Given the description of an element on the screen output the (x, y) to click on. 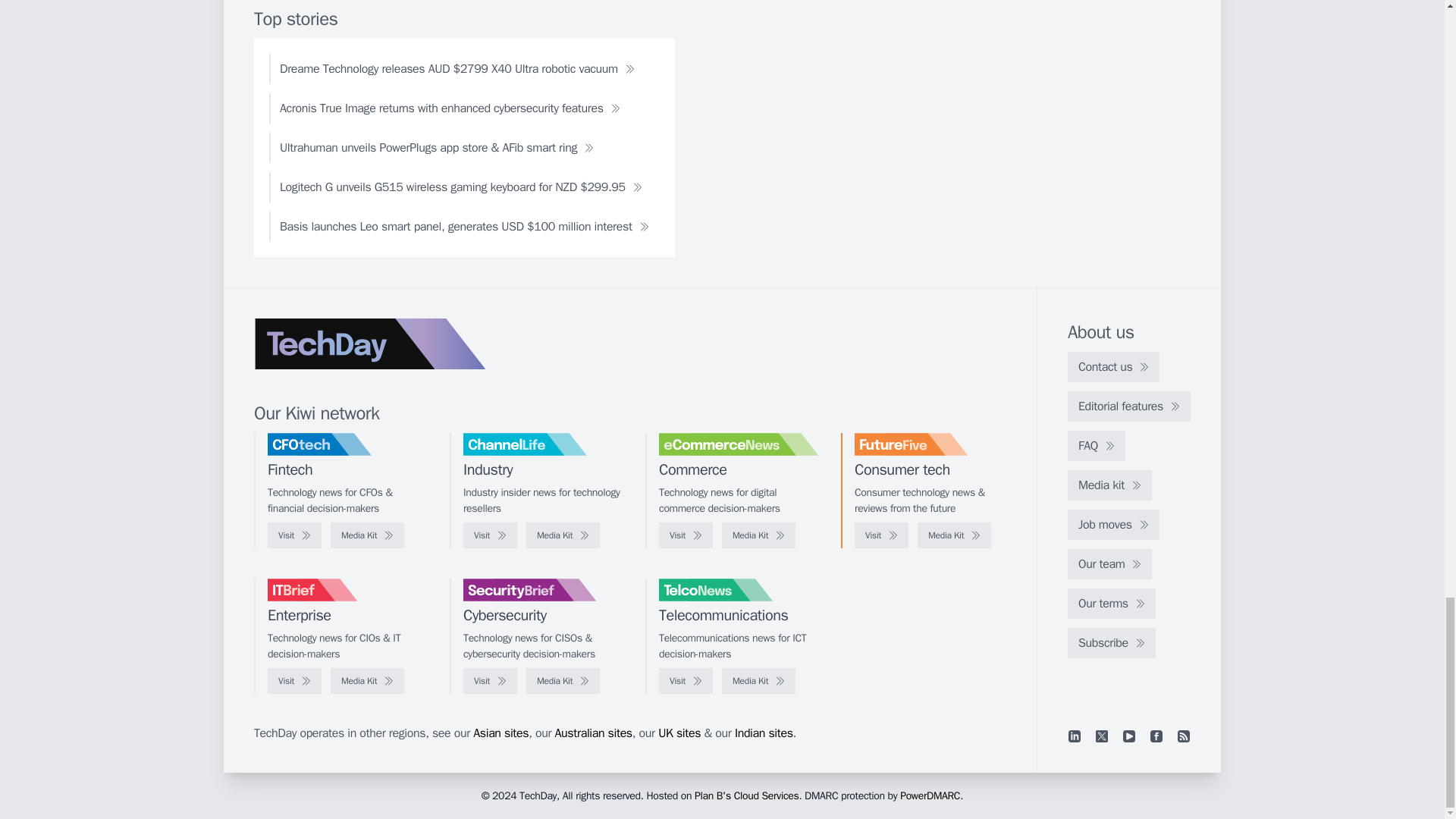
Media Kit (367, 534)
Media Kit (758, 534)
Visit (489, 534)
Visit (686, 534)
Visit (881, 534)
Media Kit (562, 534)
Visit (294, 534)
